Given the description of an element on the screen output the (x, y) to click on. 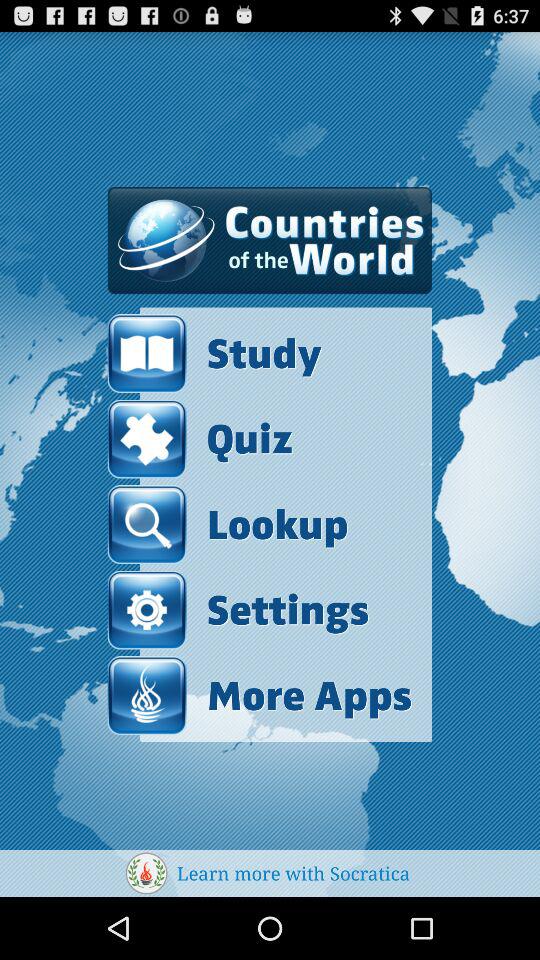
turn on the quiz (199, 438)
